Given the description of an element on the screen output the (x, y) to click on. 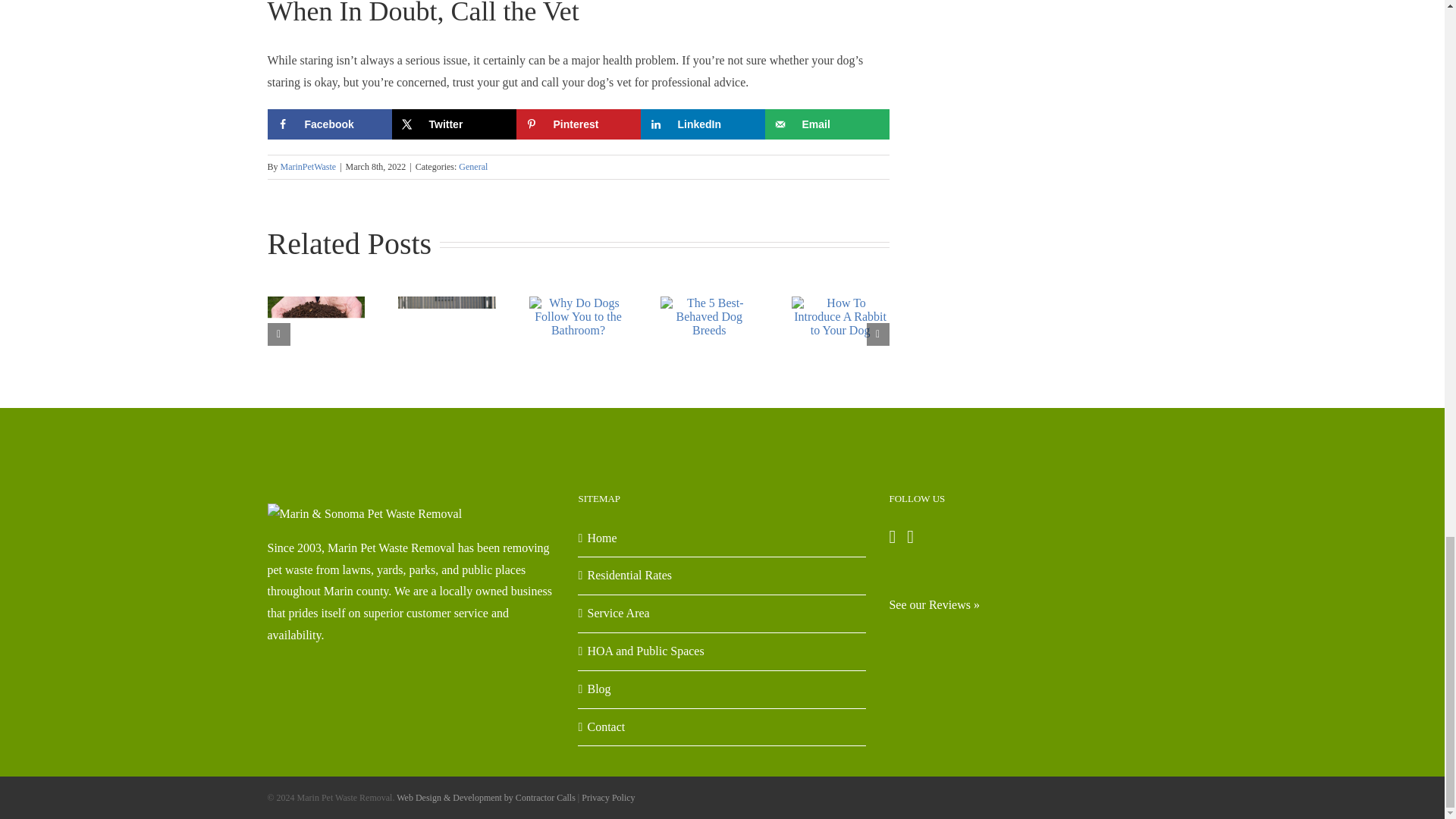
Posts by MarinPetWaste (308, 166)
Pinterest (577, 123)
Email (826, 123)
LinkedIn (702, 123)
Share on X (453, 123)
Send over email (826, 123)
Twitter (453, 123)
Save to Pinterest (577, 123)
General (472, 166)
Share on Facebook (328, 123)
